Given the description of an element on the screen output the (x, y) to click on. 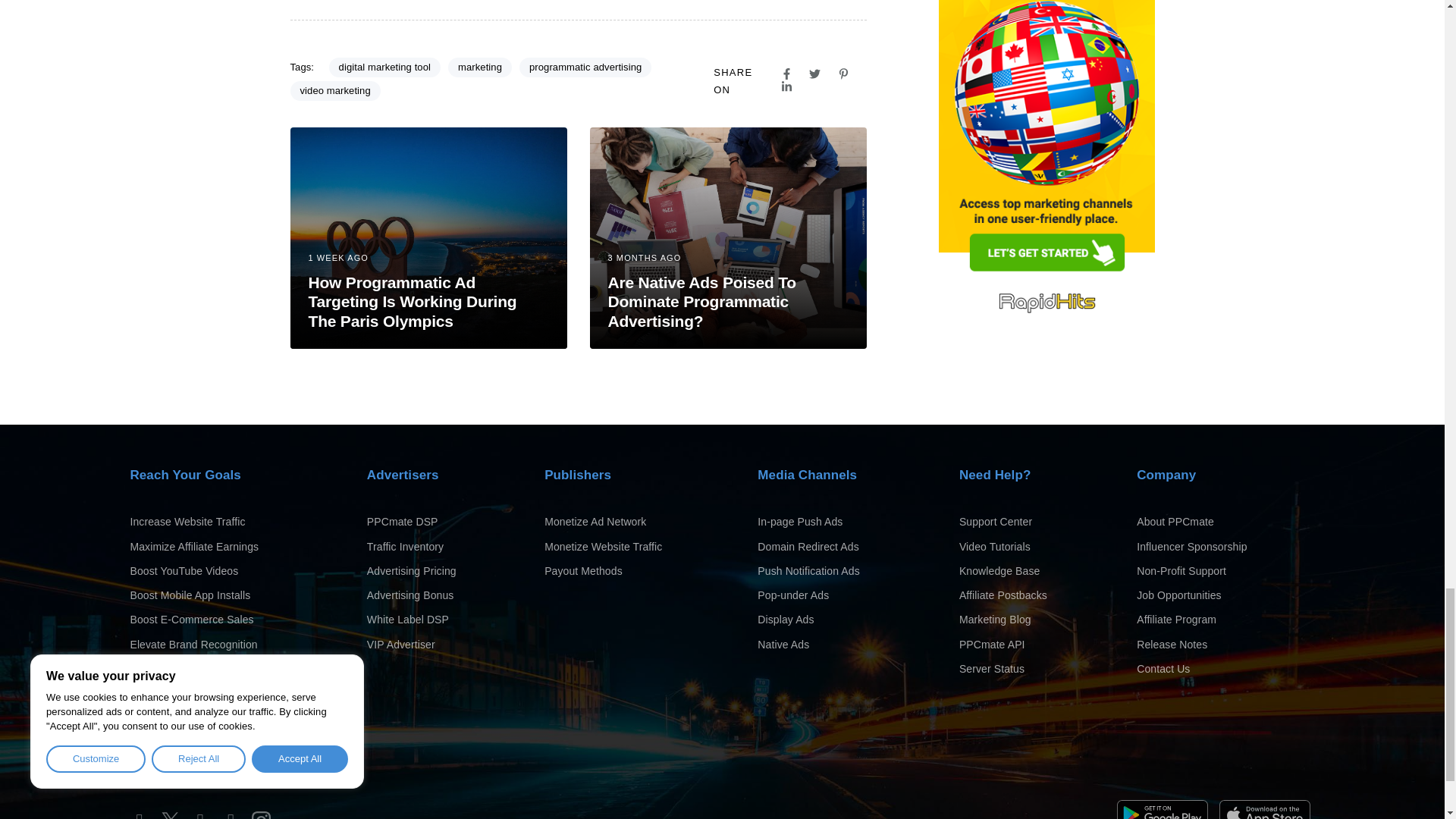
programmatic advertising (584, 66)
video marketing (334, 90)
marketing (480, 66)
digital marketing tool (385, 66)
